Given the description of an element on the screen output the (x, y) to click on. 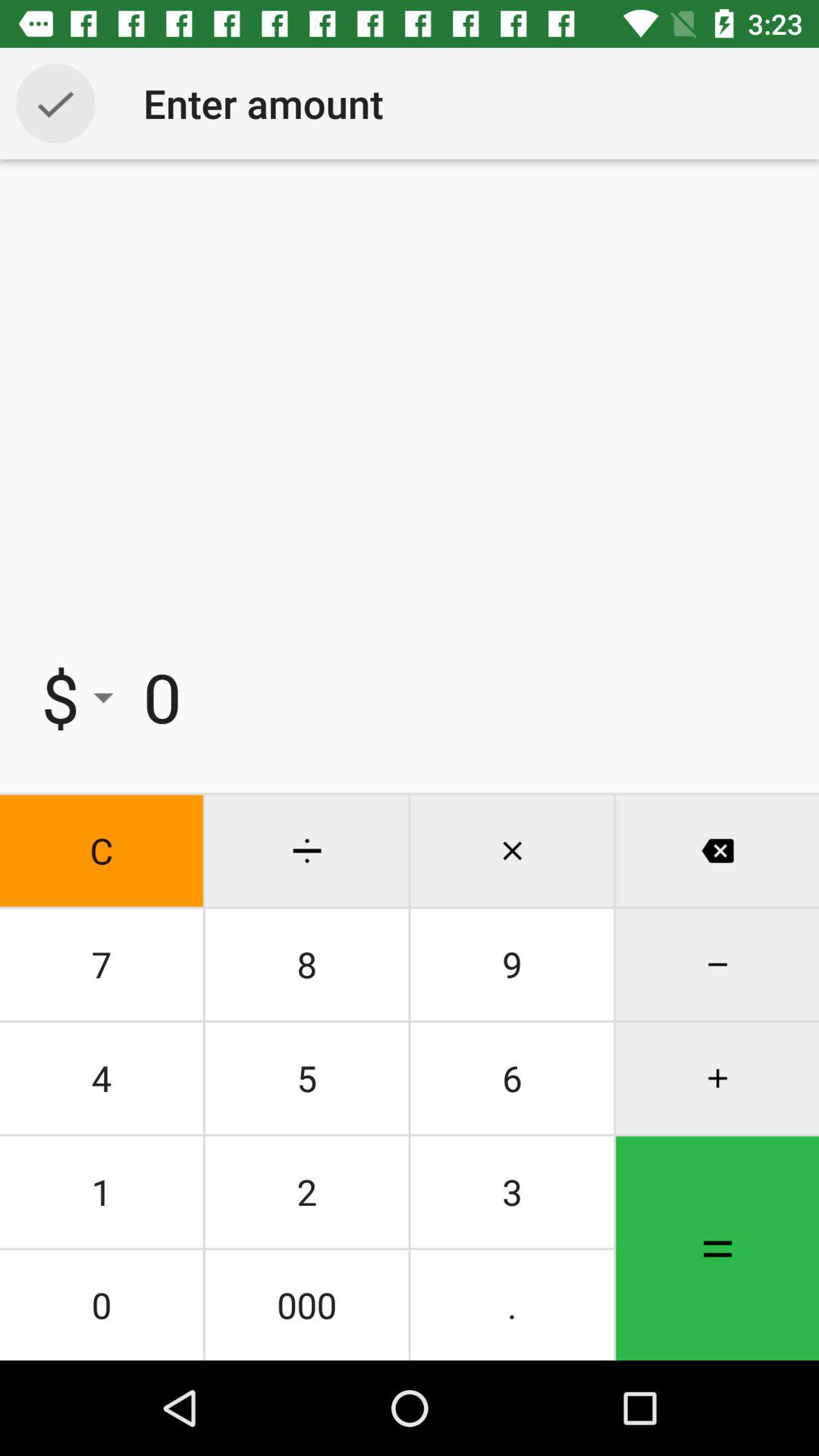
swipe to the 5 (306, 1078)
